Given the description of an element on the screen output the (x, y) to click on. 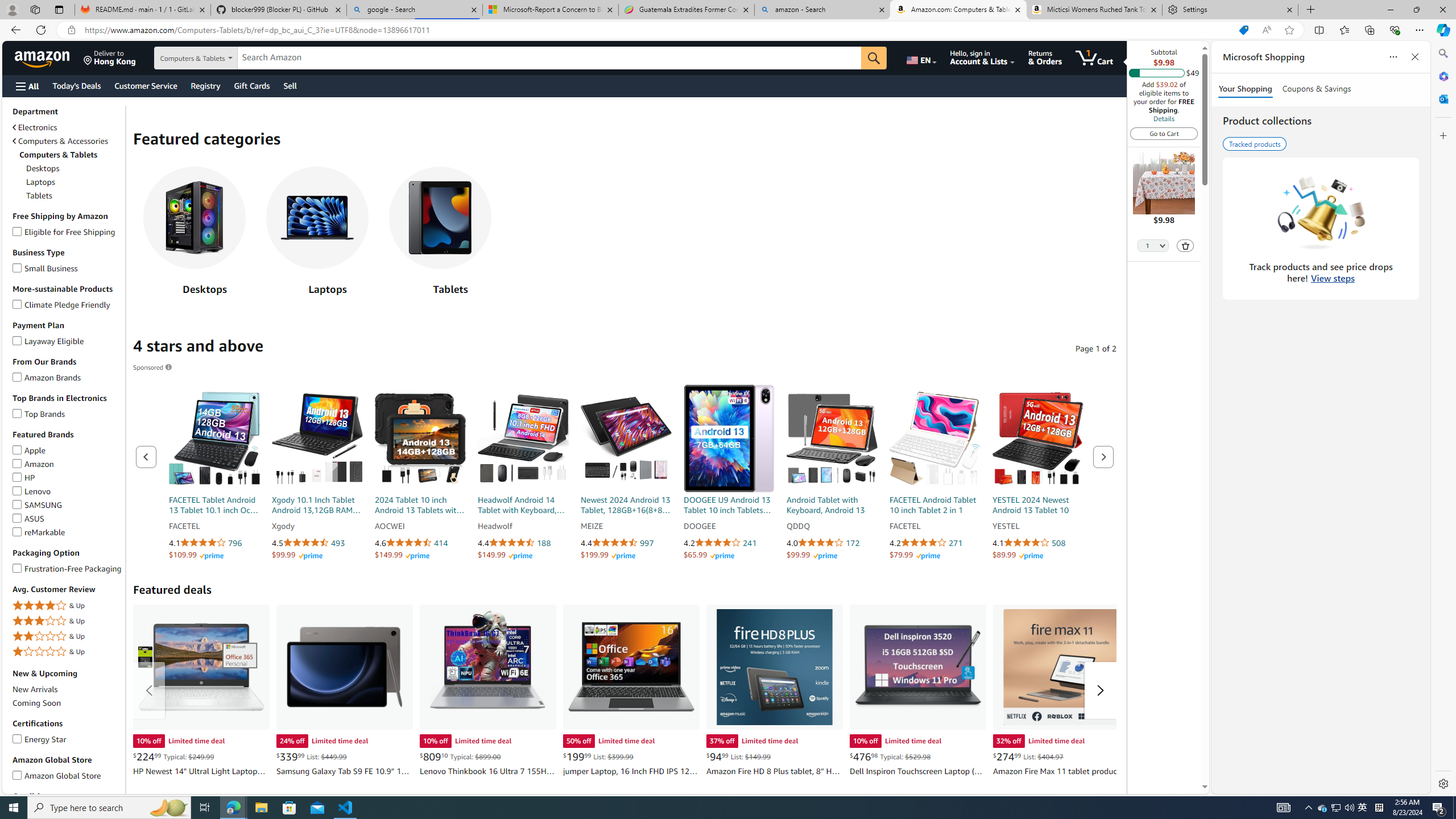
Previous page of related Sponsored Products (145, 456)
Skip to main content (48, 56)
Energy Star (17, 737)
4.2 out of 5 stars 271 ratings (934, 543)
Hello, sign in Account & Lists (982, 57)
MEIZE (625, 526)
Laptops (317, 234)
